Given the description of an element on the screen output the (x, y) to click on. 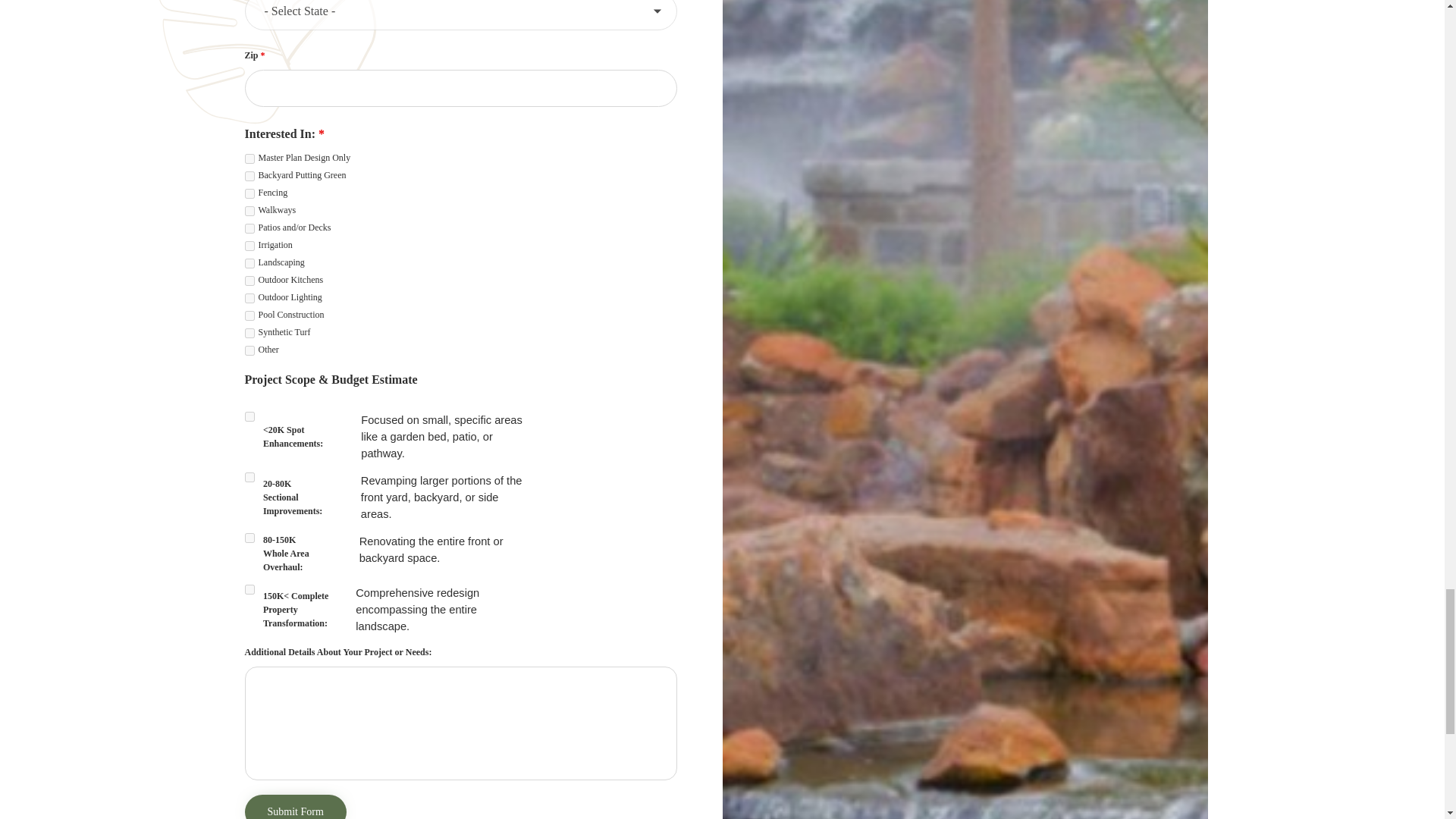
landscaping (248, 263)
master-plan-design-only (248, 158)
irrigation (248, 245)
patios-and-or-decks (248, 228)
other (248, 350)
1 (248, 416)
pool-construction (248, 316)
fencing (248, 194)
synthetic-turf (248, 333)
backyard-putting-green (248, 175)
